Given the description of an element on the screen output the (x, y) to click on. 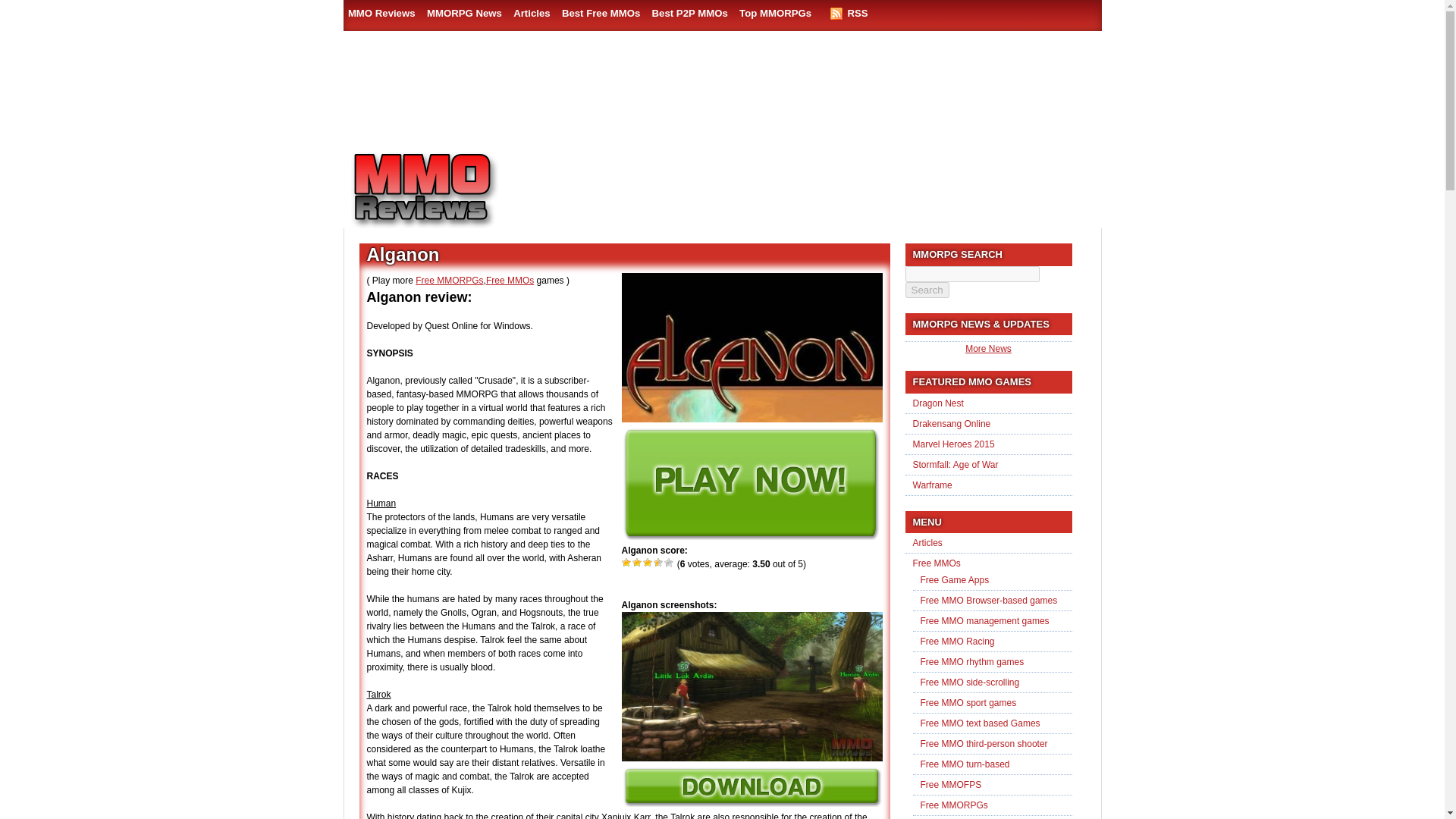
Free MMOs (936, 562)
Search (927, 289)
Articles (531, 12)
Best Free MMOs (600, 12)
More News (988, 348)
5 Stars (669, 562)
Dragon Nest (937, 402)
Drakensang Online (951, 423)
MMORPG Reviews (445, 190)
Best P2P MMOs (689, 12)
